Given the description of an element on the screen output the (x, y) to click on. 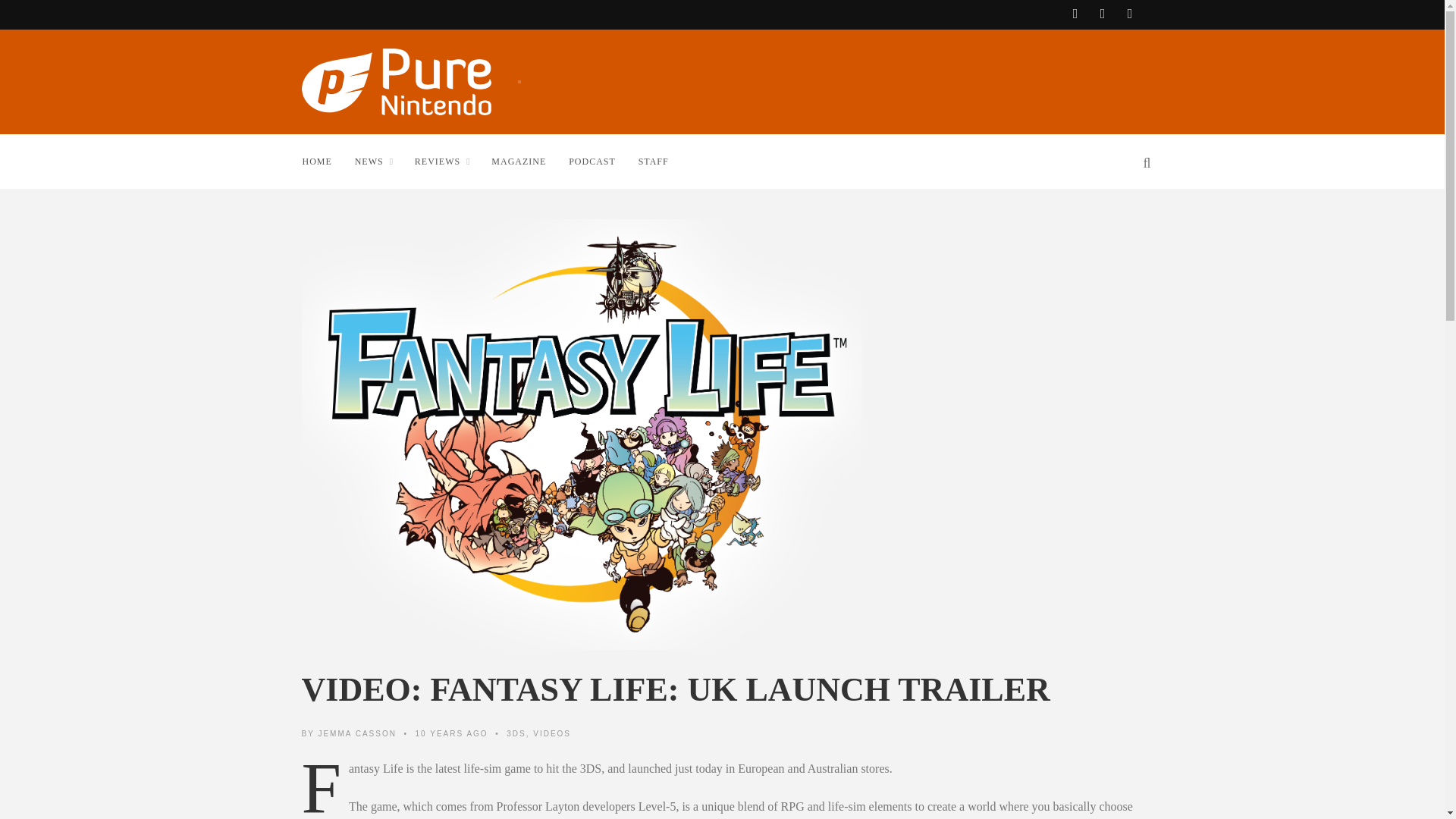
JEMMA CASSON (356, 733)
NEWS (384, 160)
3DS (515, 733)
More Videos Posts (551, 733)
More 3DS Posts (515, 733)
Posts by Jemma Casson (356, 733)
MAGAZINE (529, 160)
HOME (327, 160)
STAFF (664, 160)
PODCAST (603, 160)
VIDEOS (551, 733)
REVIEWS (453, 160)
